Given the description of an element on the screen output the (x, y) to click on. 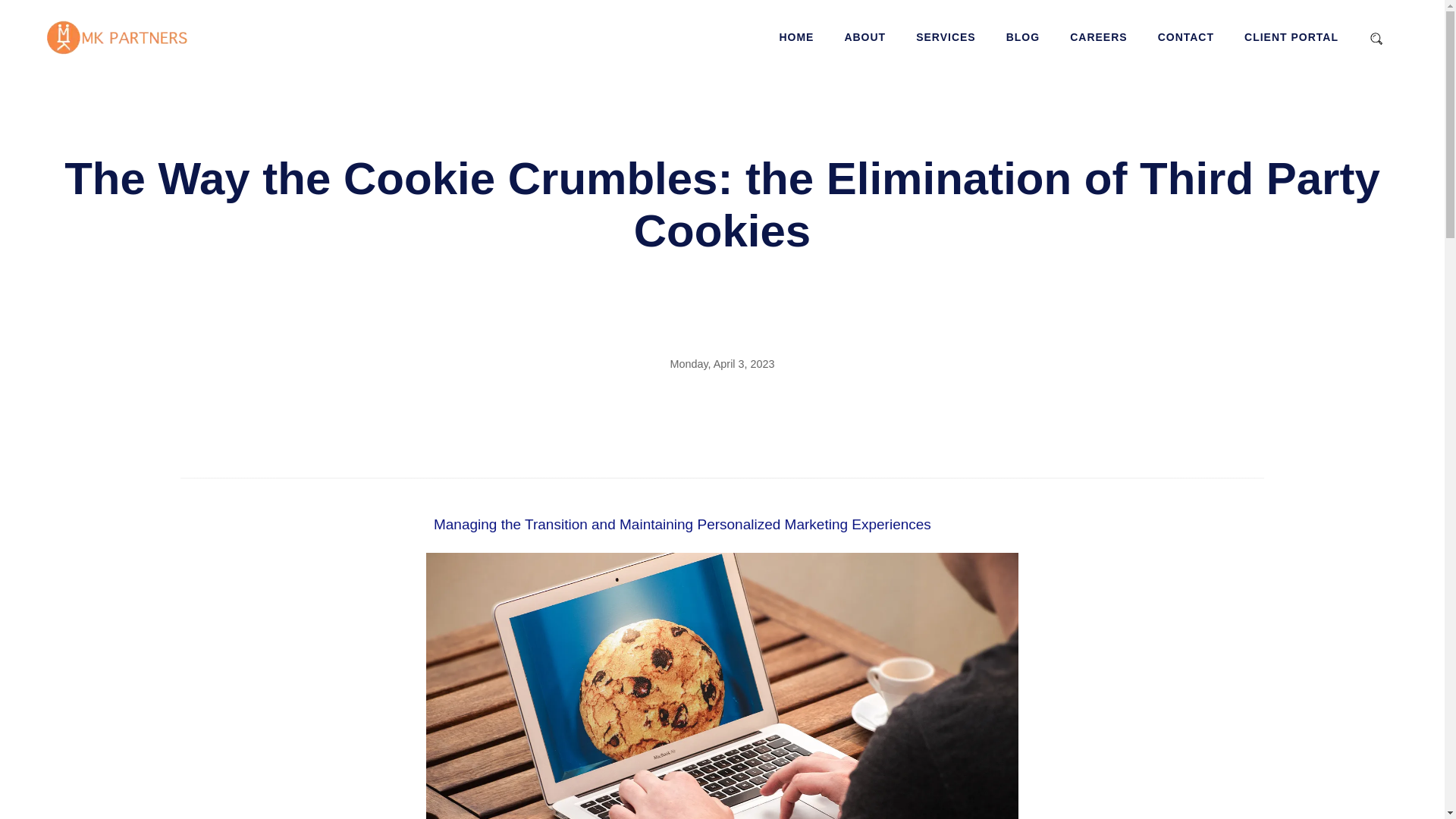
CONTACT (1185, 37)
ABOUT (864, 37)
SERVICES (945, 37)
CLIENT PORTAL (1291, 37)
CAREERS (1098, 37)
HOME (795, 37)
BLOG (1022, 37)
